Given the description of an element on the screen output the (x, y) to click on. 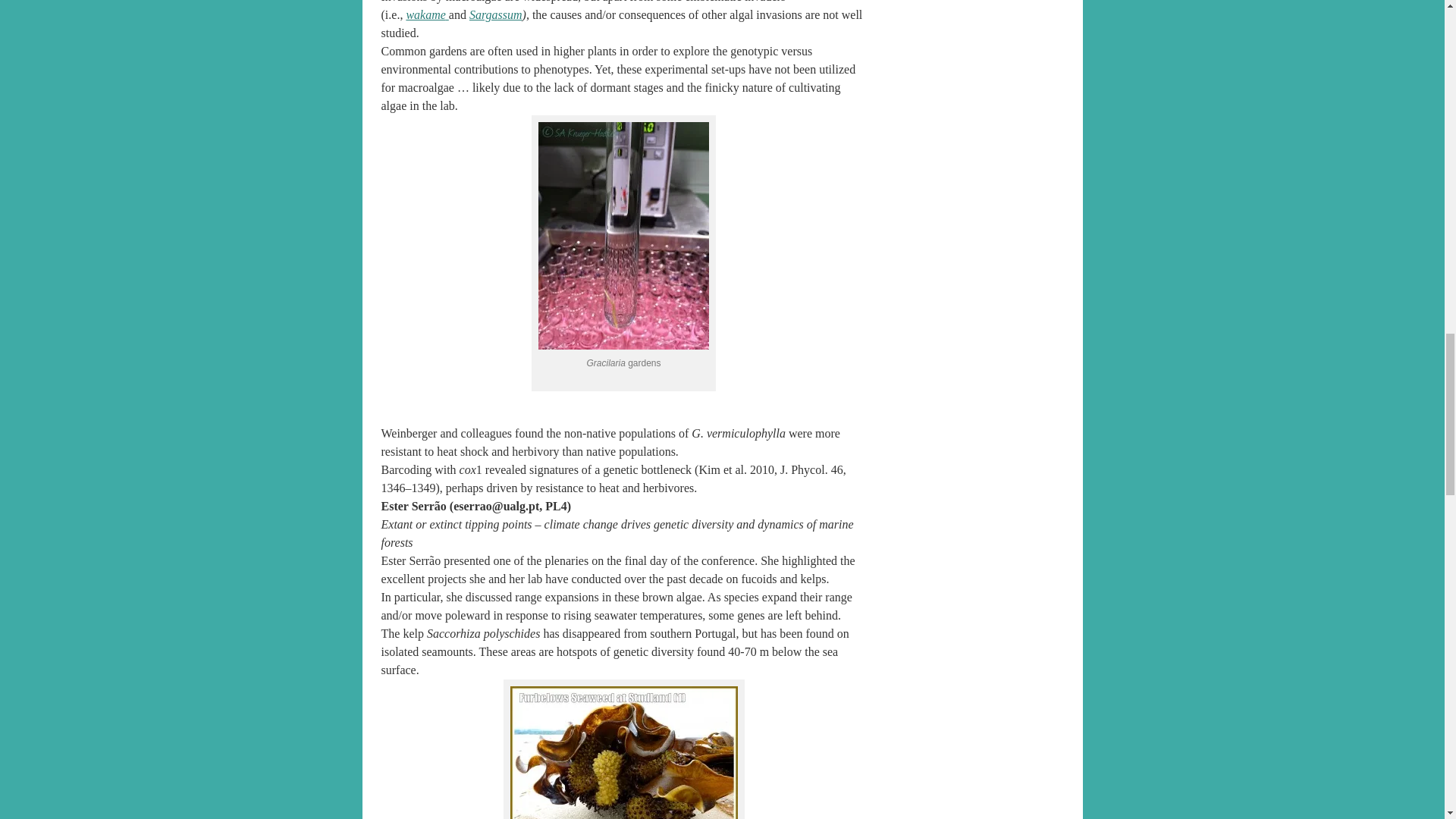
Sargassum (495, 14)
wakame  (427, 14)
